Given the description of an element on the screen output the (x, y) to click on. 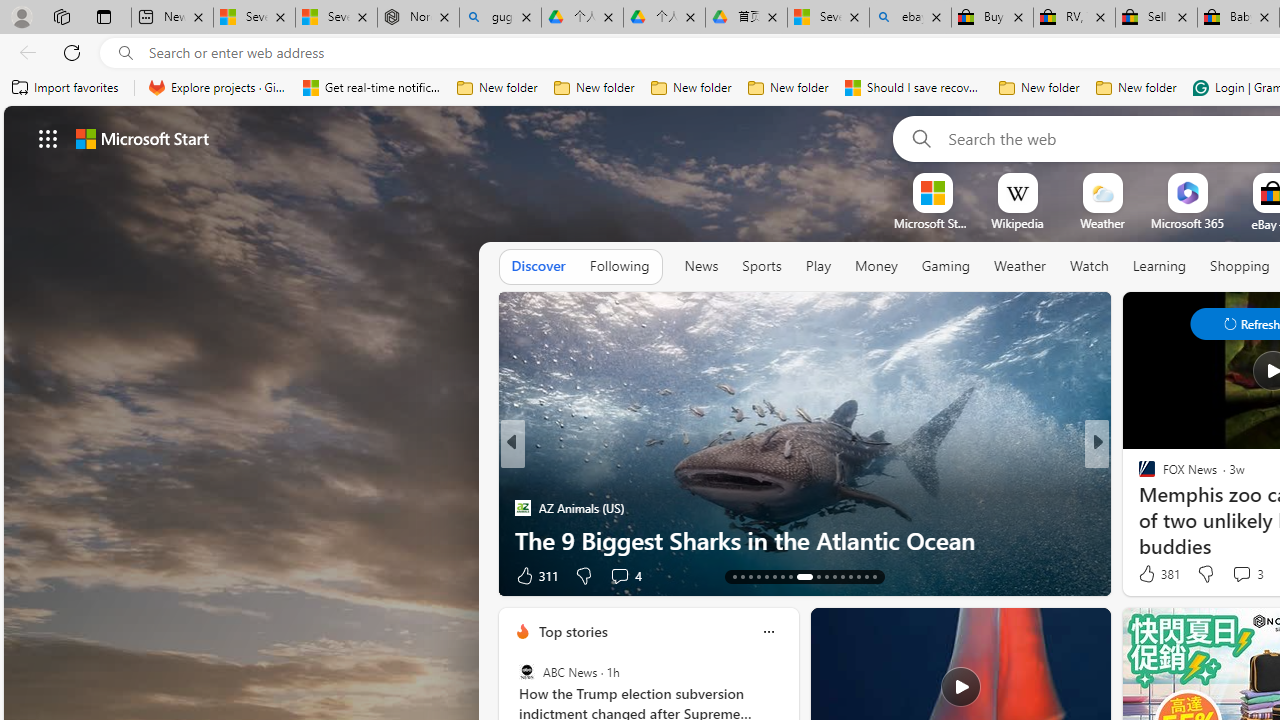
View comments 10 Comment (1237, 574)
View comments 74 Comment (11, 575)
Search (917, 138)
AutomationID: tab-18 (774, 576)
Following (619, 265)
AutomationID: tab-21 (797, 576)
Weather (1019, 267)
381 Like (1157, 574)
View comments 3 Comment (1247, 574)
Dislike (1204, 574)
Tropics waking up in September (804, 539)
Discover (538, 265)
Top stories (572, 631)
ABC News (526, 672)
